Given the description of an element on the screen output the (x, y) to click on. 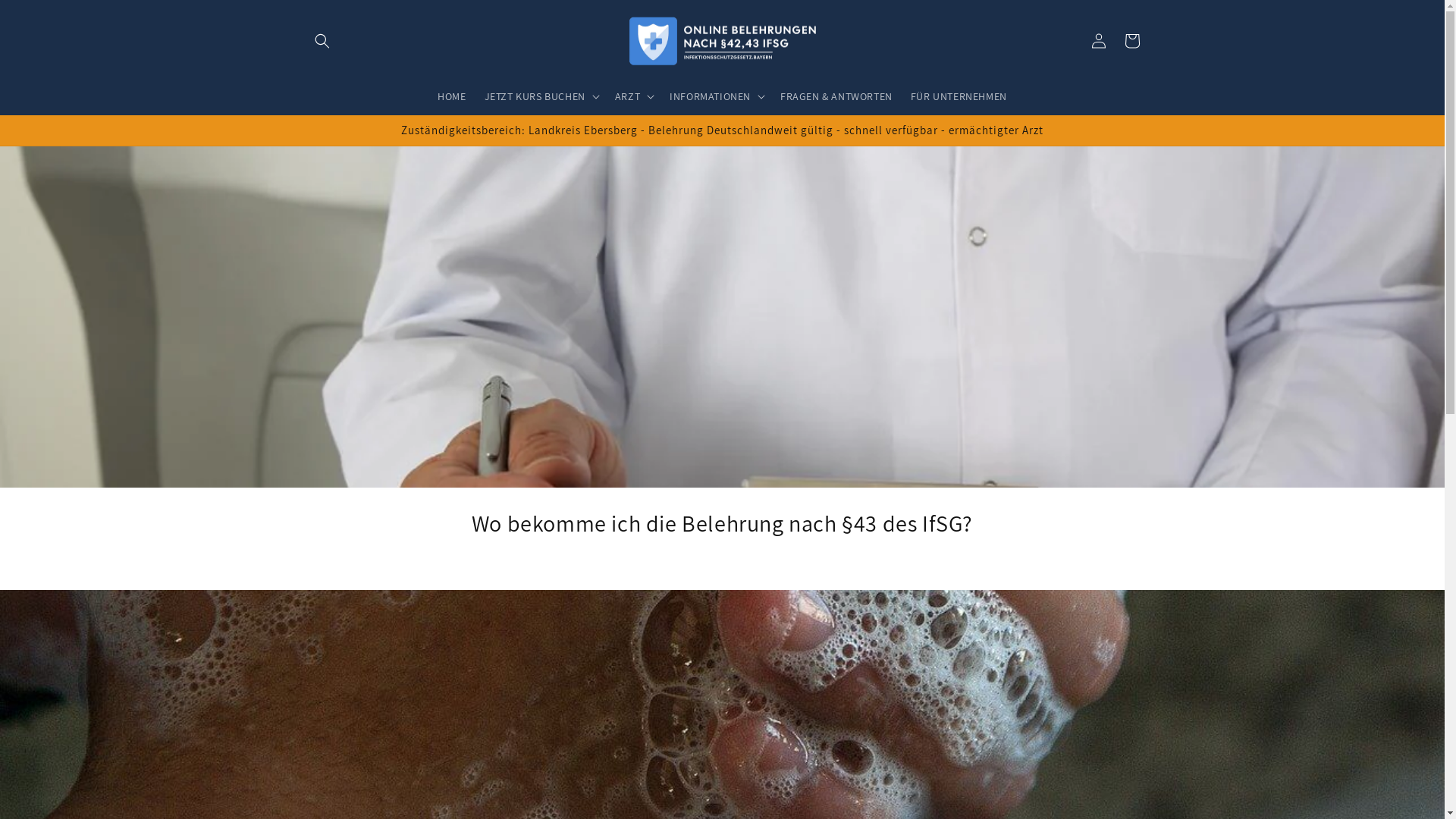
FRAGEN & ANTWORTEN Element type: text (836, 96)
Einloggen Element type: text (1097, 40)
Warenkorb Element type: text (1131, 40)
HOME Element type: text (451, 96)
